Given the description of an element on the screen output the (x, y) to click on. 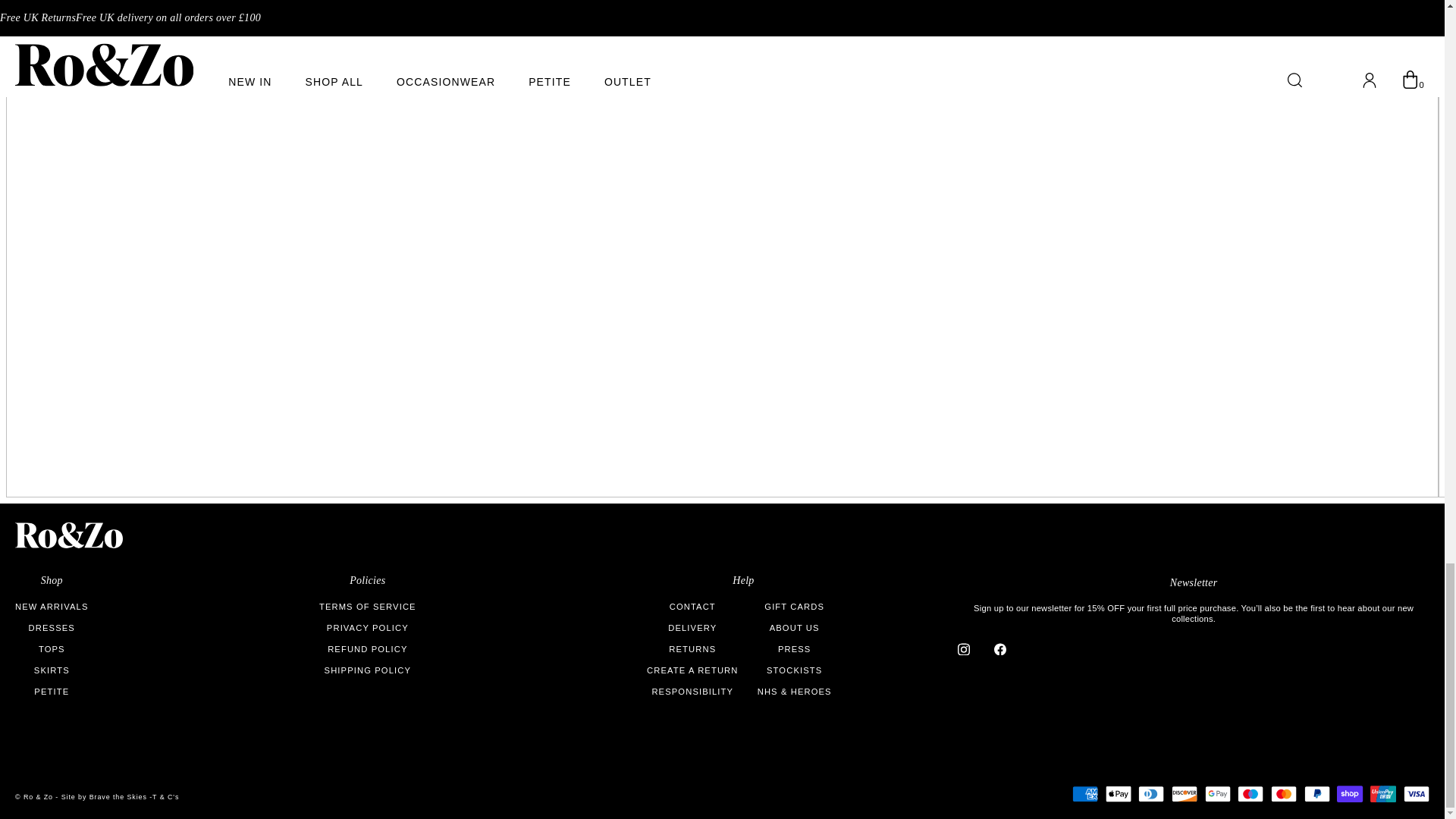
Visa (1416, 793)
Discover (1184, 793)
American Express (1084, 793)
Google Pay (1217, 793)
PayPal (1317, 793)
Maestro (1250, 793)
Diners Club (1151, 793)
Mastercard (1284, 793)
Union Pay (1383, 793)
Apple Pay (1118, 793)
